Given the description of an element on the screen output the (x, y) to click on. 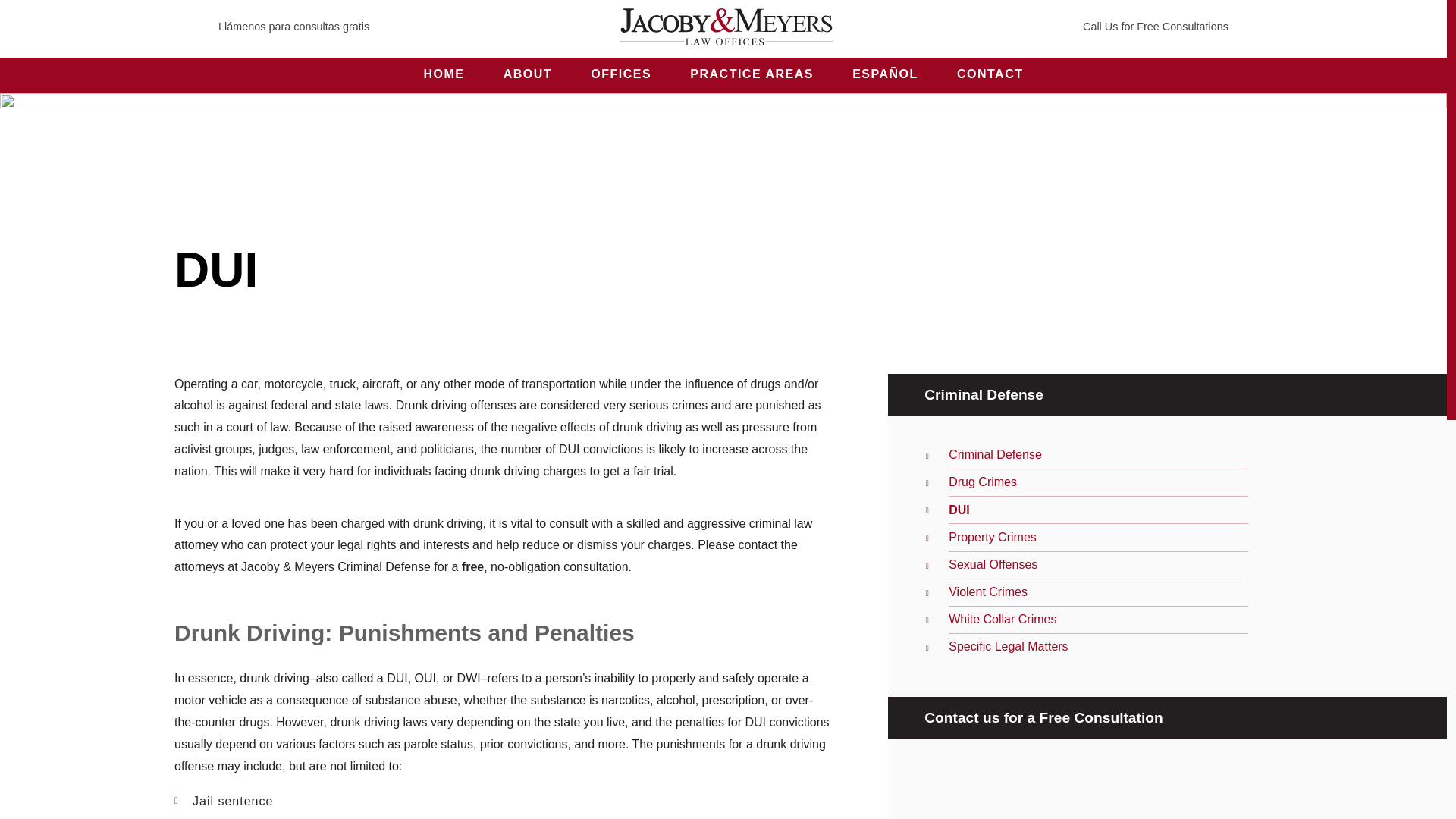
ABOUT (527, 74)
PRACTICE AREAS (751, 74)
CONTACT (989, 74)
OFFICES (621, 74)
Criminal Defense (995, 454)
HOME (443, 74)
DUI (959, 509)
Drug Crimes (982, 481)
Property Crimes (992, 536)
